Given the description of an element on the screen output the (x, y) to click on. 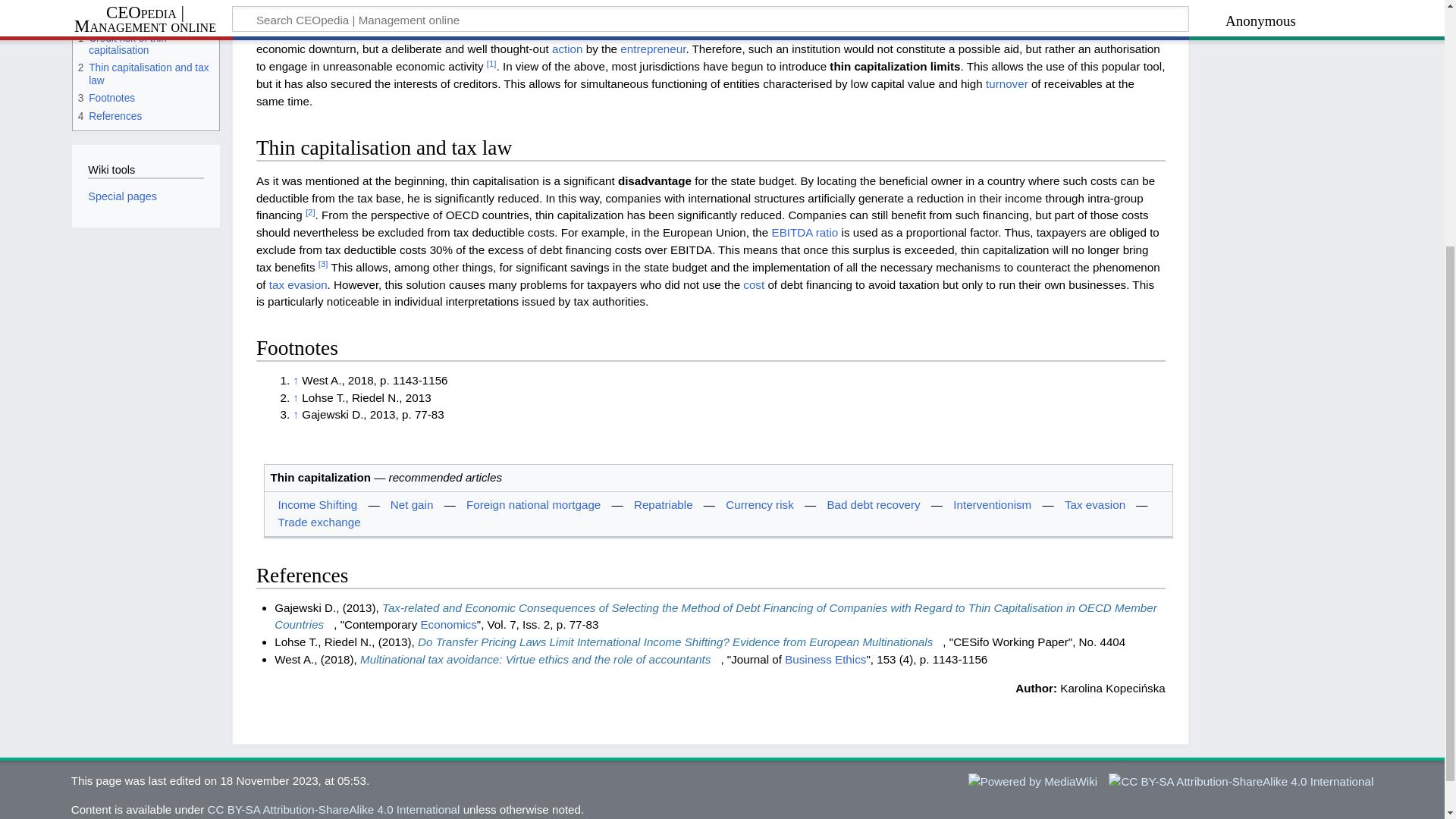
economic factors (925, 31)
Tax evasion (1094, 504)
cost (753, 284)
tax evasion (298, 284)
market (686, 14)
Action (567, 48)
turnover (1006, 83)
Method (956, 2)
Market (686, 14)
Net gain (411, 504)
Trade exchange (318, 521)
method (956, 2)
